Given the description of an element on the screen output the (x, y) to click on. 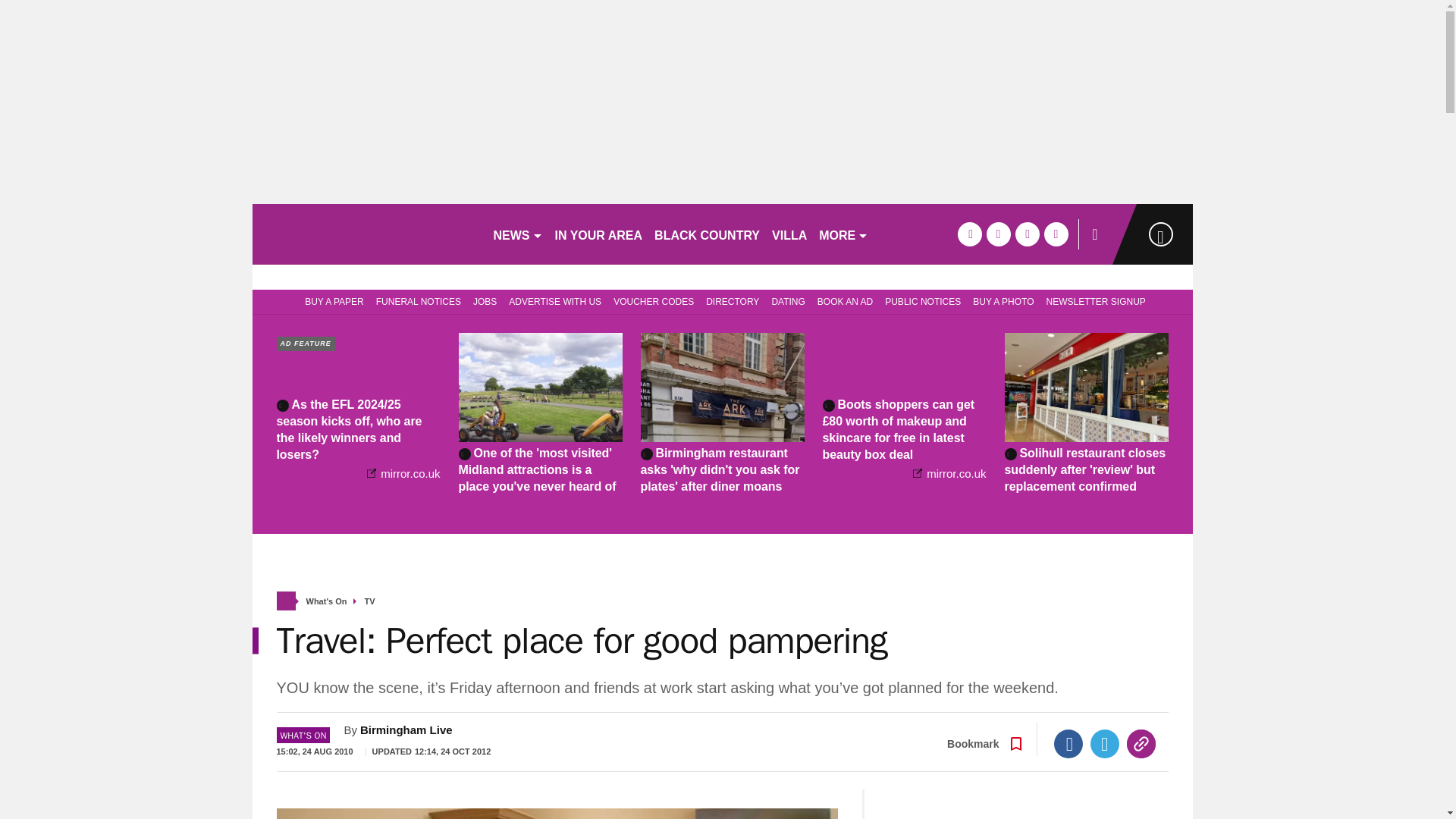
BLACK COUNTRY (706, 233)
MORE (843, 233)
tiktok (1026, 233)
Twitter (1104, 743)
birminghammail (365, 233)
NEWS (517, 233)
Facebook (1068, 743)
instagram (1055, 233)
facebook (968, 233)
twitter (997, 233)
